Given the description of an element on the screen output the (x, y) to click on. 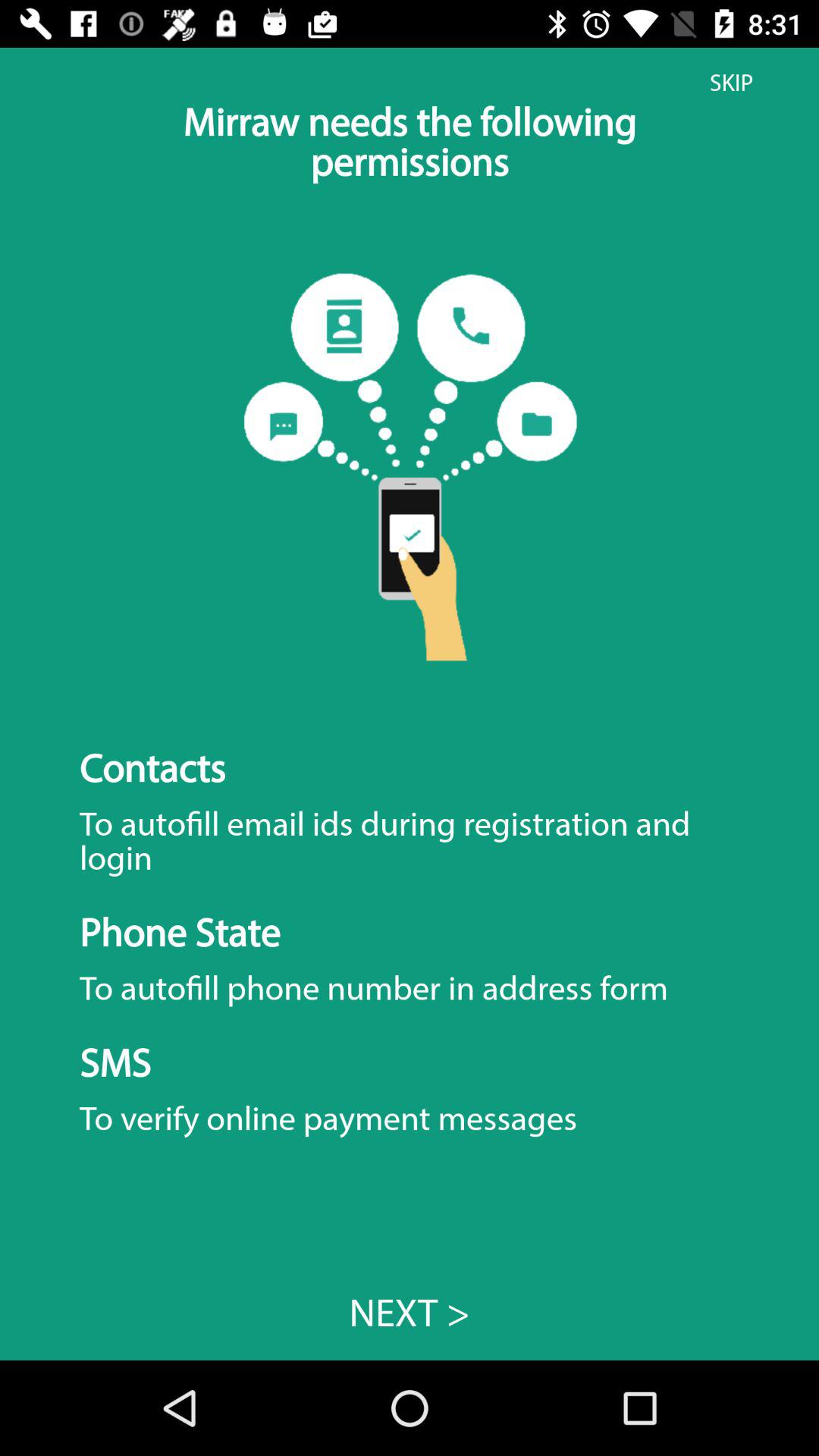
select next > item (409, 1312)
